Given the description of an element on the screen output the (x, y) to click on. 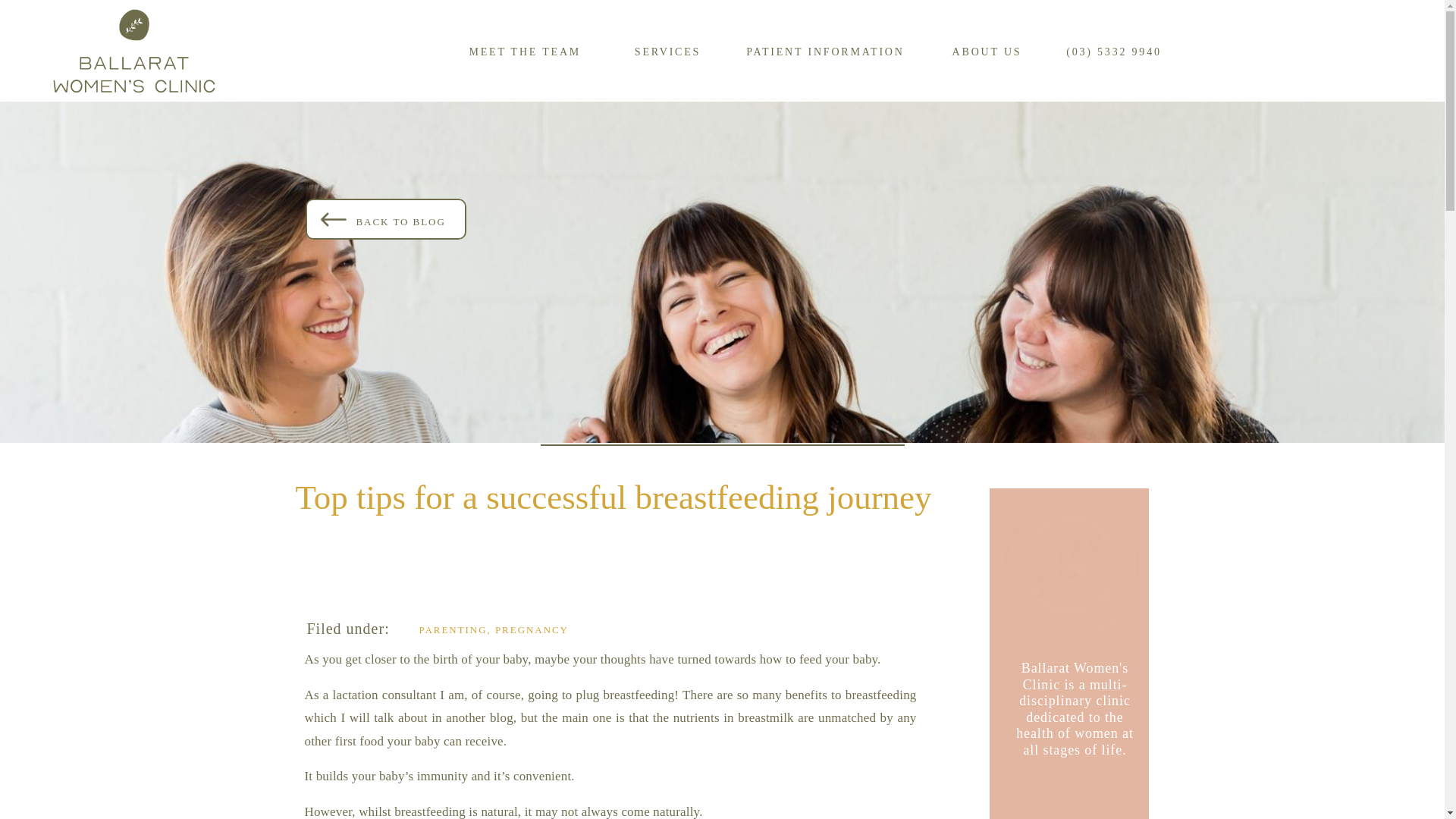
SERVICES (667, 50)
PATIENT INFORMATION (825, 50)
MEET THE TEAM (526, 50)
ABOUT US (987, 50)
